Given the description of an element on the screen output the (x, y) to click on. 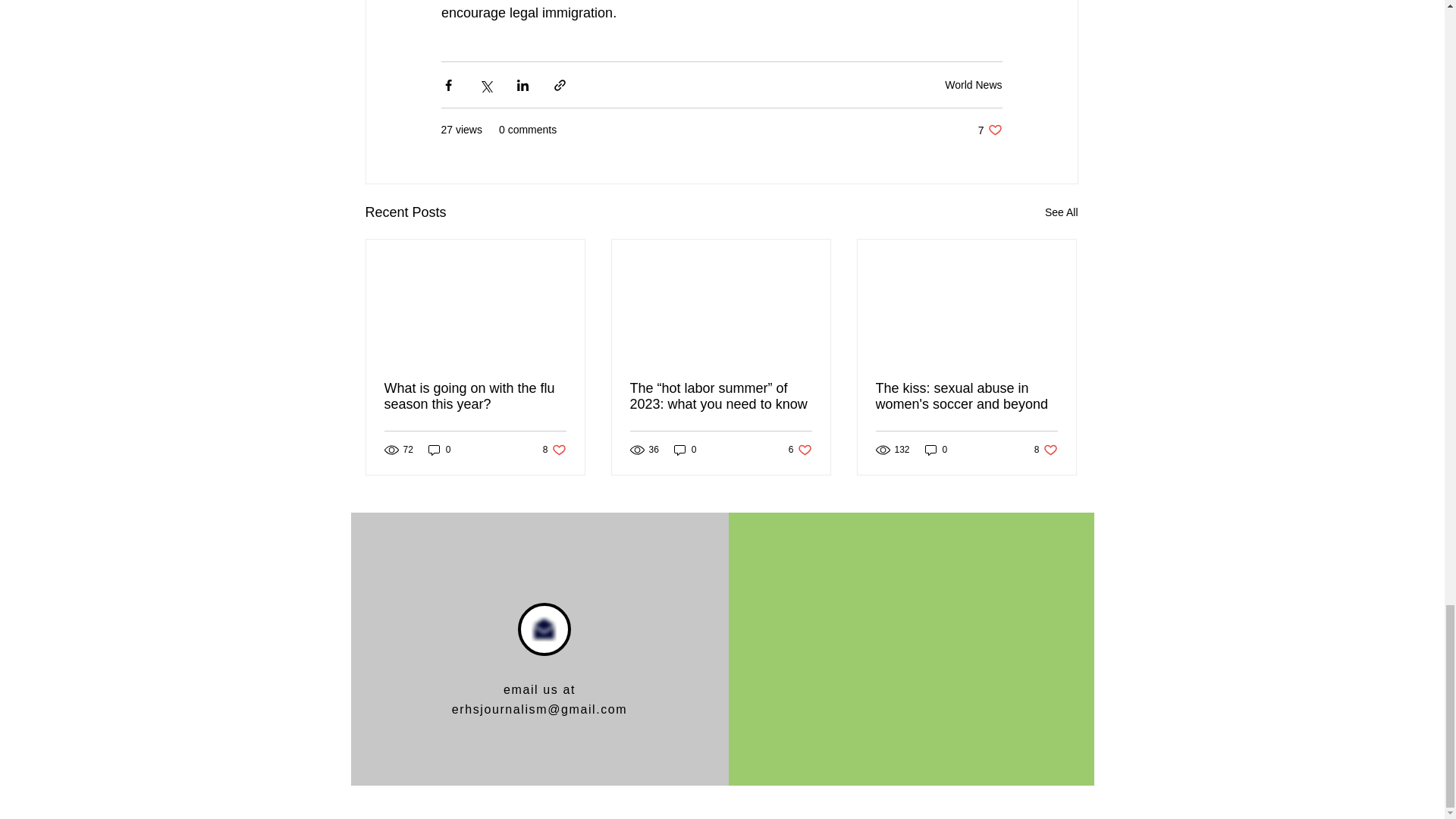
What is going on with the flu season this year? (1045, 450)
The kiss: sexual abuse in women's soccer and beyond (554, 450)
See All (475, 396)
0 (966, 396)
World News (1061, 212)
0 (936, 450)
0 (972, 84)
